Given the description of an element on the screen output the (x, y) to click on. 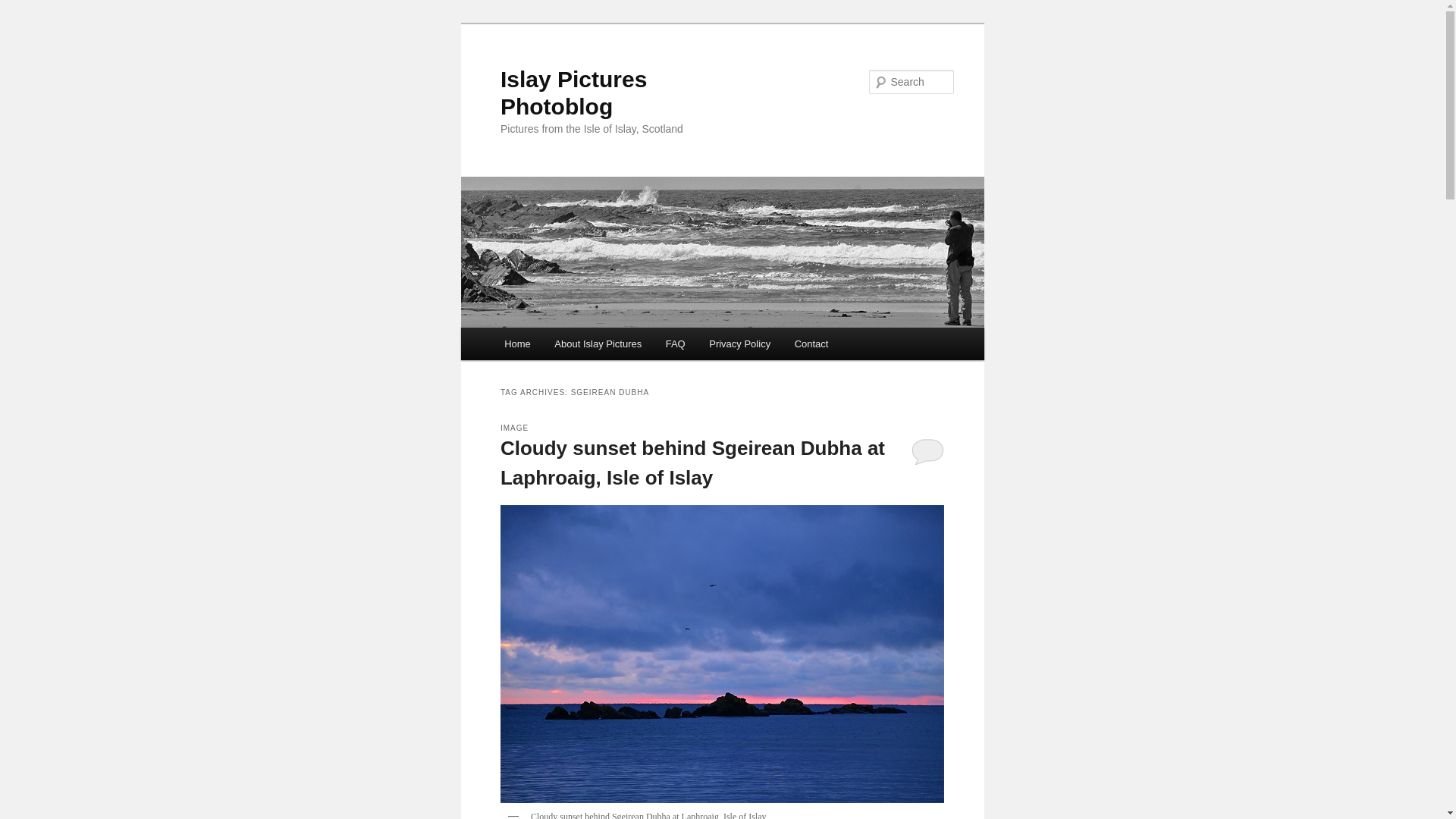
Home (516, 343)
Contact (811, 343)
About Islay Pictures (598, 343)
Islay Pictures Photoblog (573, 92)
FAQ (675, 343)
Privacy Policy (739, 343)
Search (24, 8)
